Given the description of an element on the screen output the (x, y) to click on. 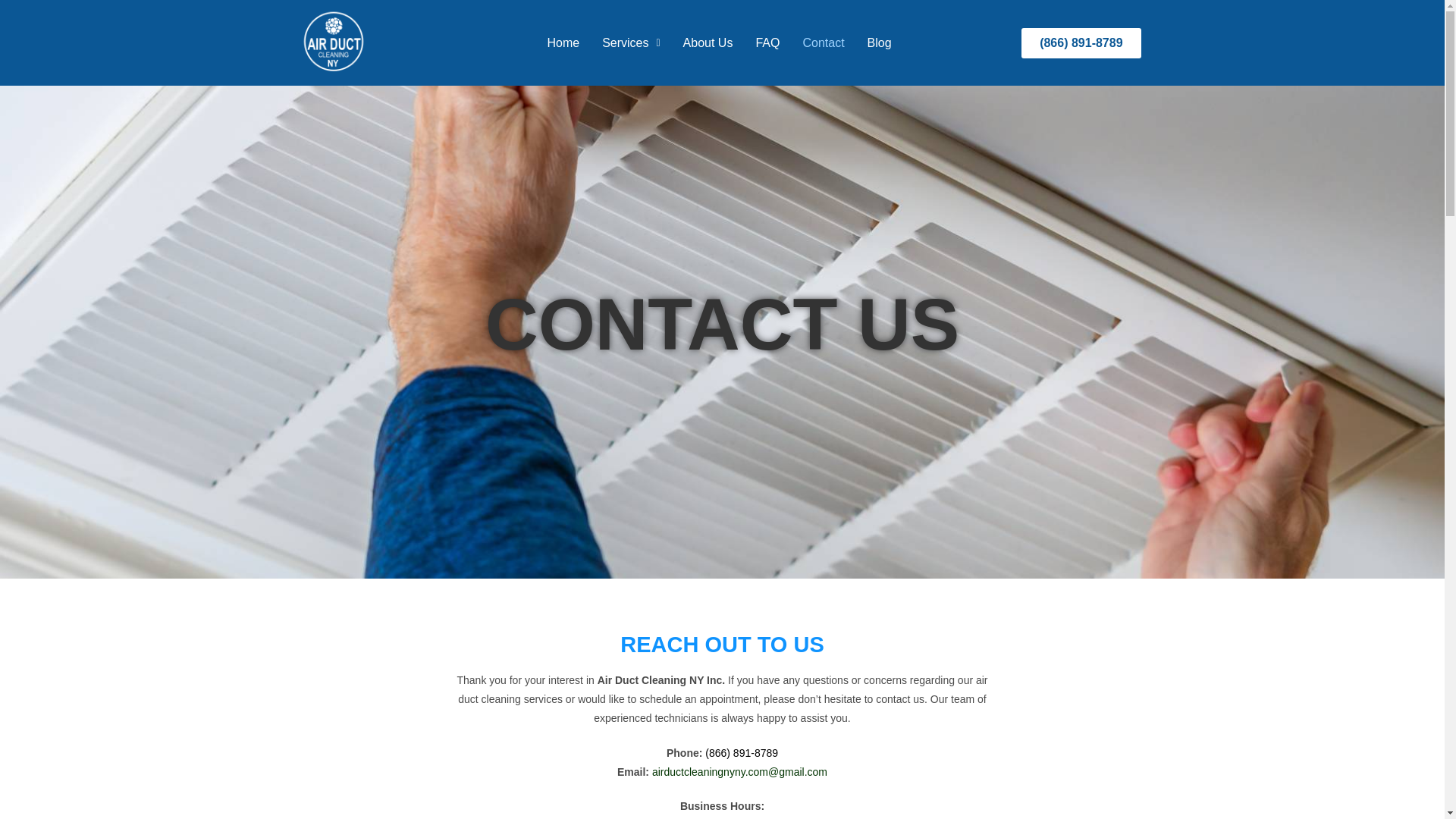
Services (631, 42)
About Us (707, 42)
Logo (332, 42)
Blog (879, 42)
Home (563, 42)
FAQ (767, 42)
Contact (823, 42)
